Given the description of an element on the screen output the (x, y) to click on. 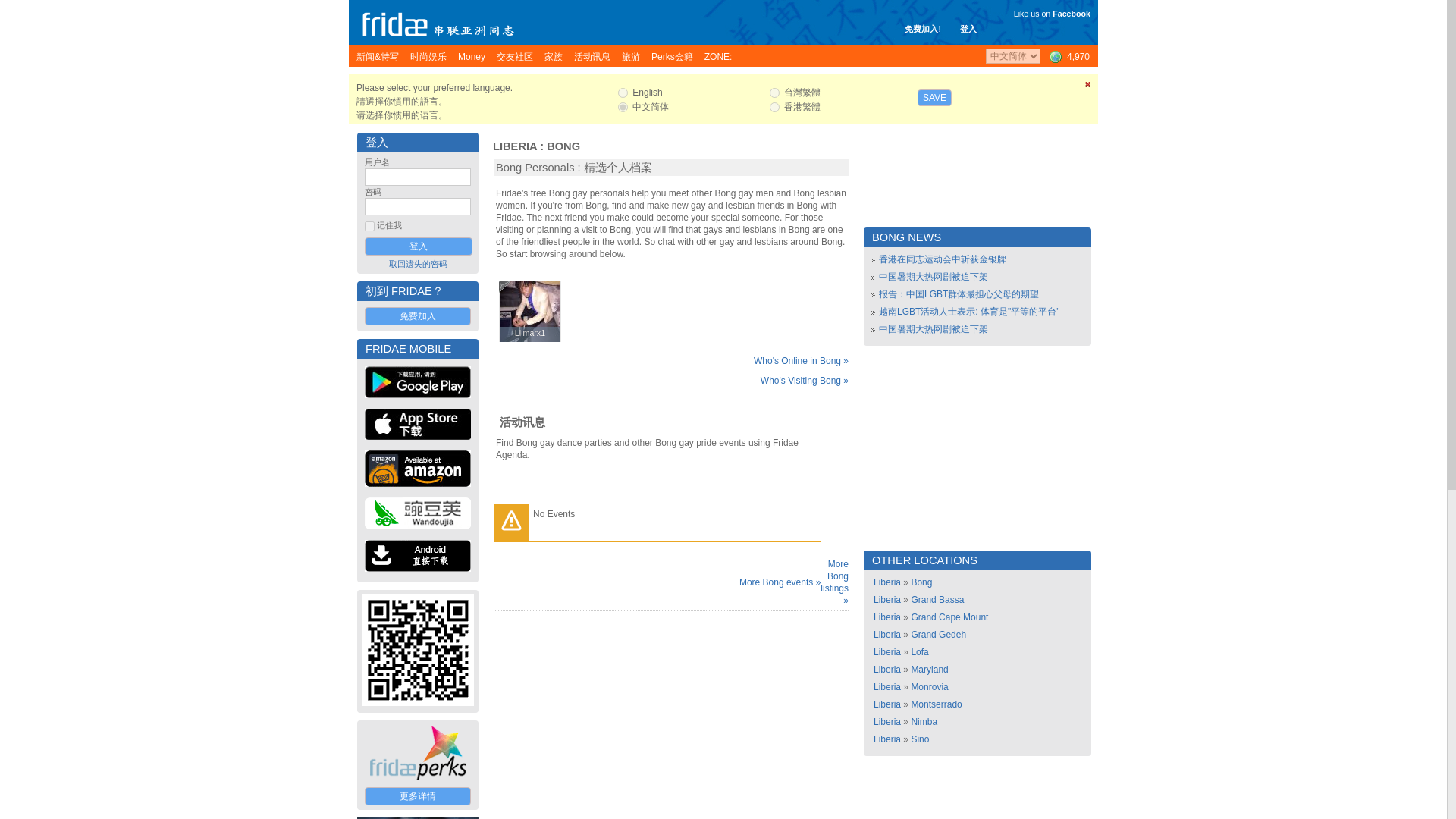
SAVE (934, 97)
Offline (505, 286)
ZONE: (718, 55)
Worldwide (1068, 56)
tc (774, 92)
Money (471, 55)
Facebook (1071, 13)
Close this panel (1087, 86)
hk (774, 107)
1 (369, 225)
